Given the description of an element on the screen output the (x, y) to click on. 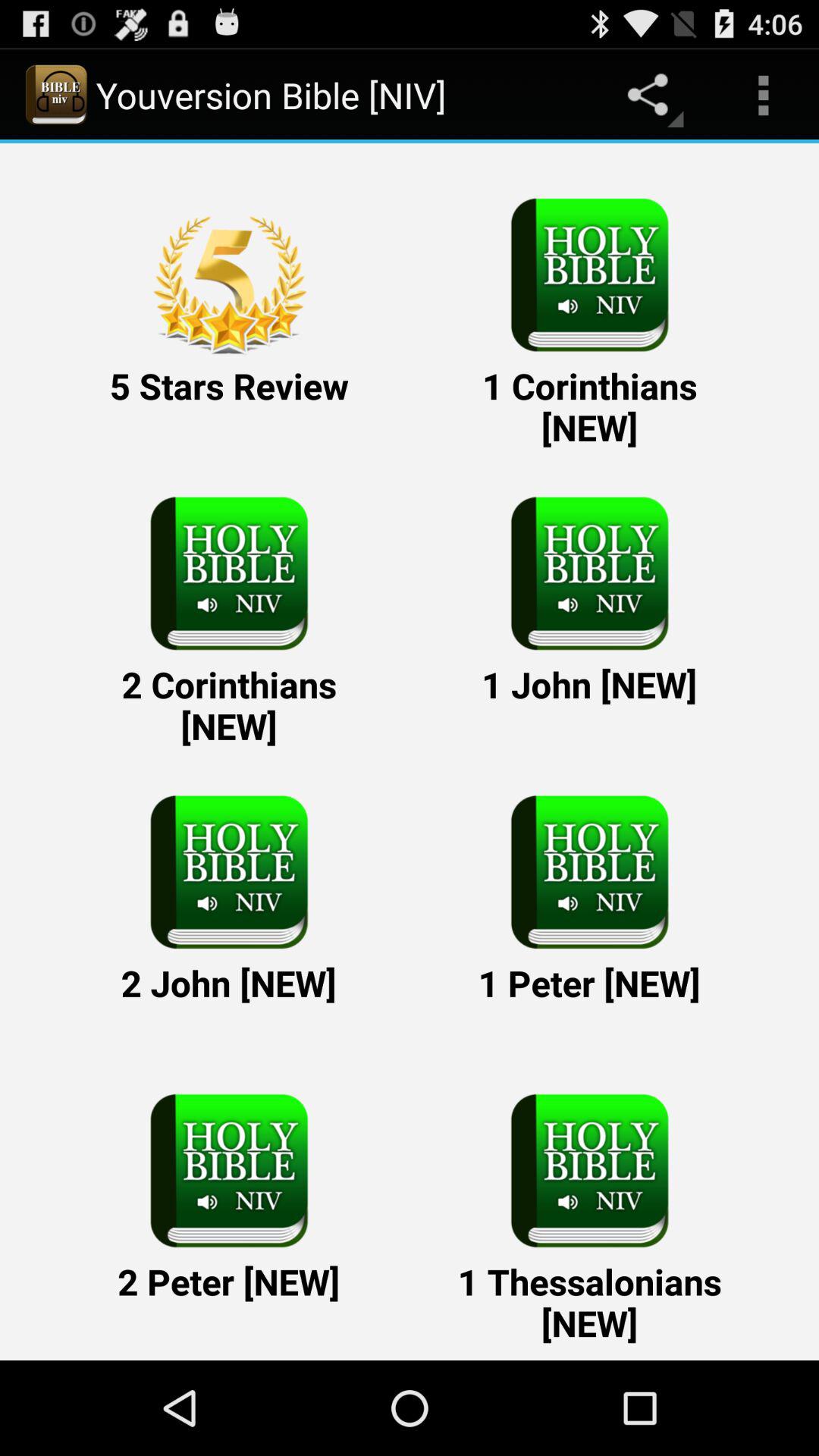
select the icon above the 1 corinthians [new] app (763, 95)
